Given the description of an element on the screen output the (x, y) to click on. 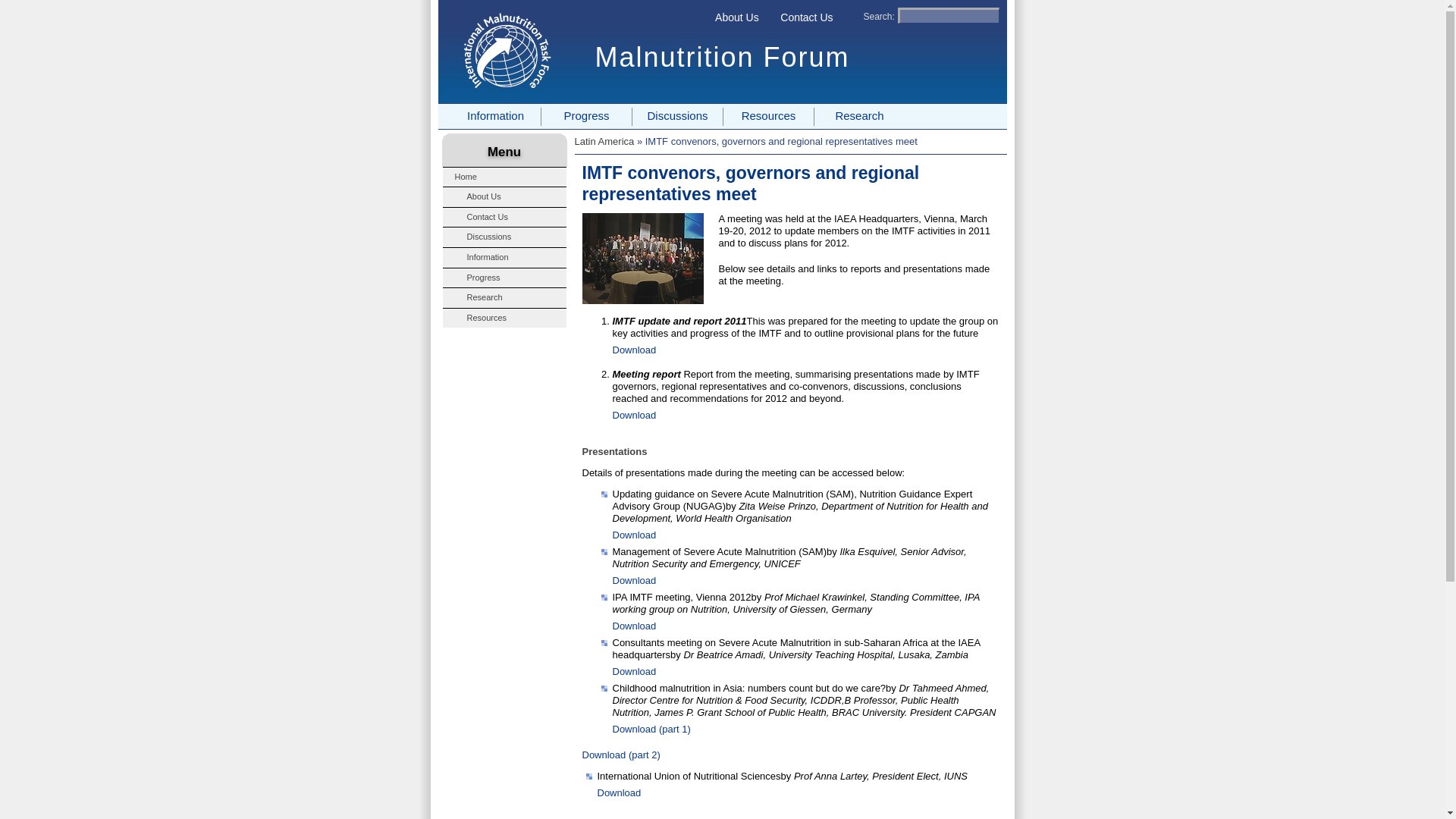
Download (634, 534)
Resources (767, 117)
About Us (736, 17)
Download (634, 349)
About Us (504, 196)
Download (634, 671)
Latin America (604, 141)
Research (858, 117)
Contact Us (504, 217)
IMTF Logo (506, 51)
